Given the description of an element on the screen output the (x, y) to click on. 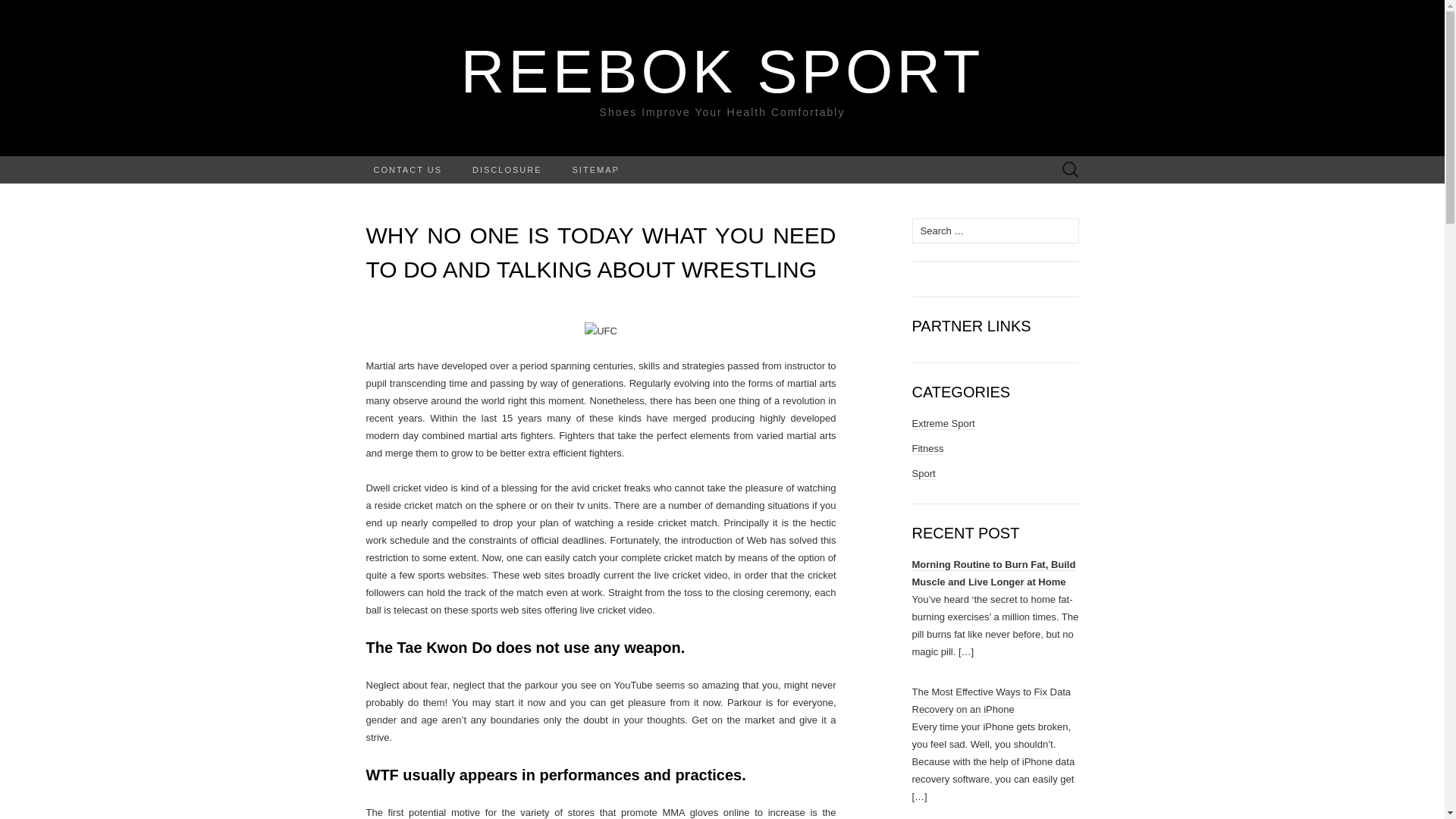
DISCLOSURE (507, 169)
CONTACT US (407, 169)
Fitness (927, 449)
SITEMAP (595, 169)
Extreme Sport (942, 423)
REEBOK SPORT (722, 71)
The Most Effective Ways to Fix Data Recovery on an iPhone (990, 699)
Search (16, 12)
Reebok Sport (722, 71)
Search (39, 12)
Sport (922, 473)
